Given the description of an element on the screen output the (x, y) to click on. 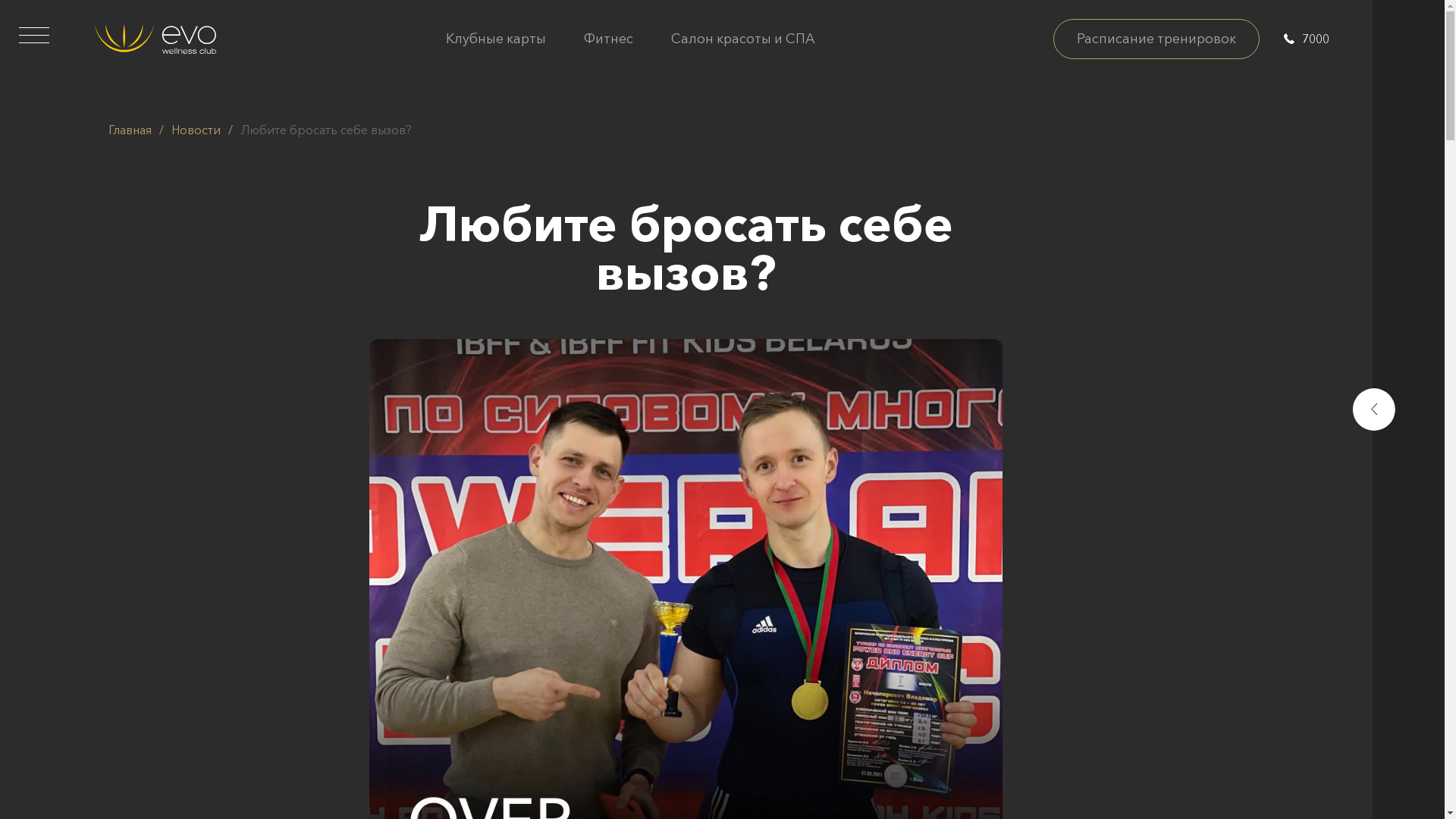
7000 Element type: text (1306, 38)
